Given the description of an element on the screen output the (x, y) to click on. 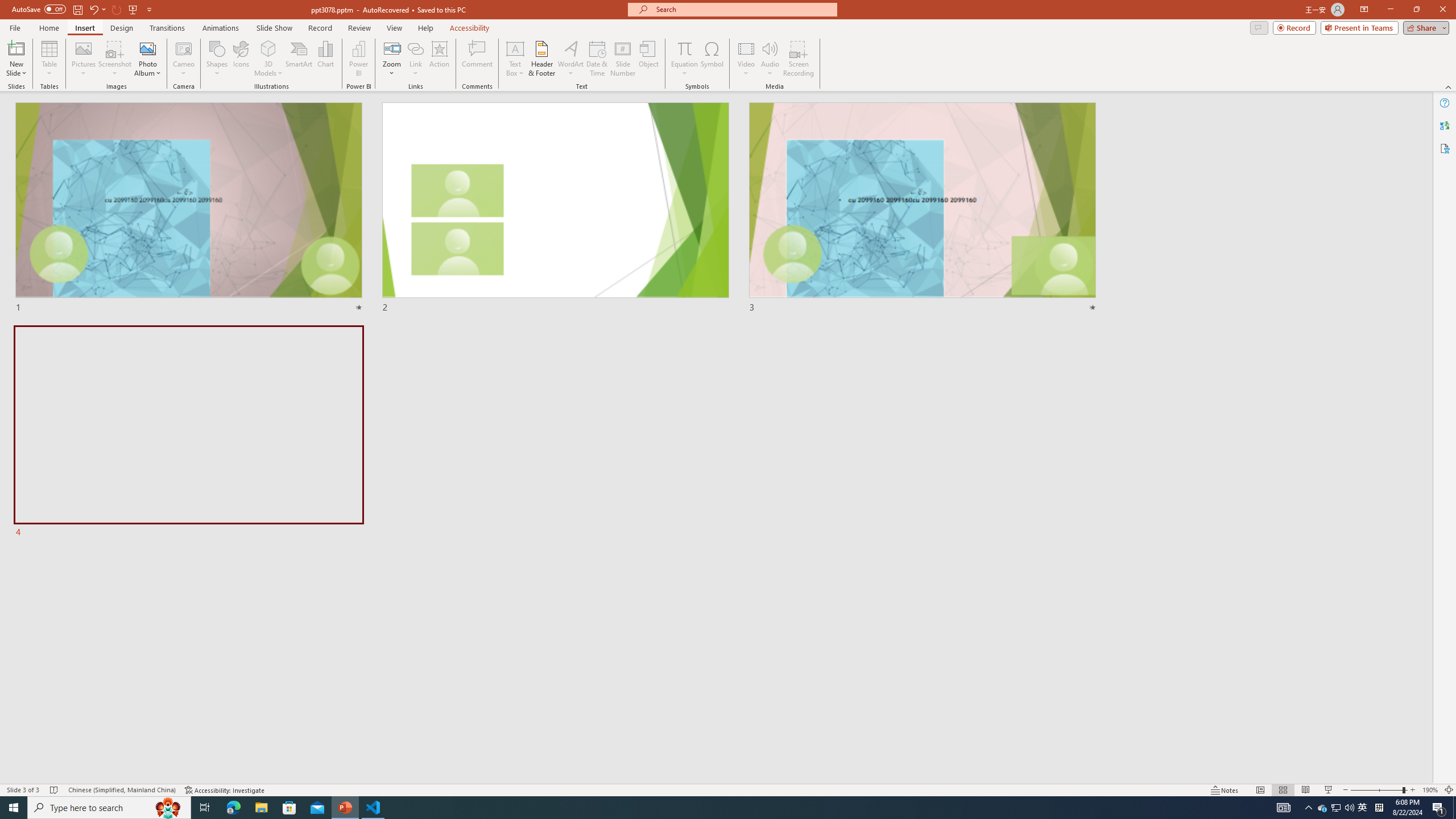
Design (122, 28)
Zoom Out (1376, 790)
Pictures (83, 58)
Notes  (1225, 790)
Review (359, 28)
Symbol... (711, 58)
Reading View (1305, 790)
3D Models (268, 48)
Power BI (358, 58)
SmartArt... (298, 58)
Accessibility Checker Accessibility: Investigate (224, 790)
View (395, 28)
Microsoft search (742, 9)
